Given the description of an element on the screen output the (x, y) to click on. 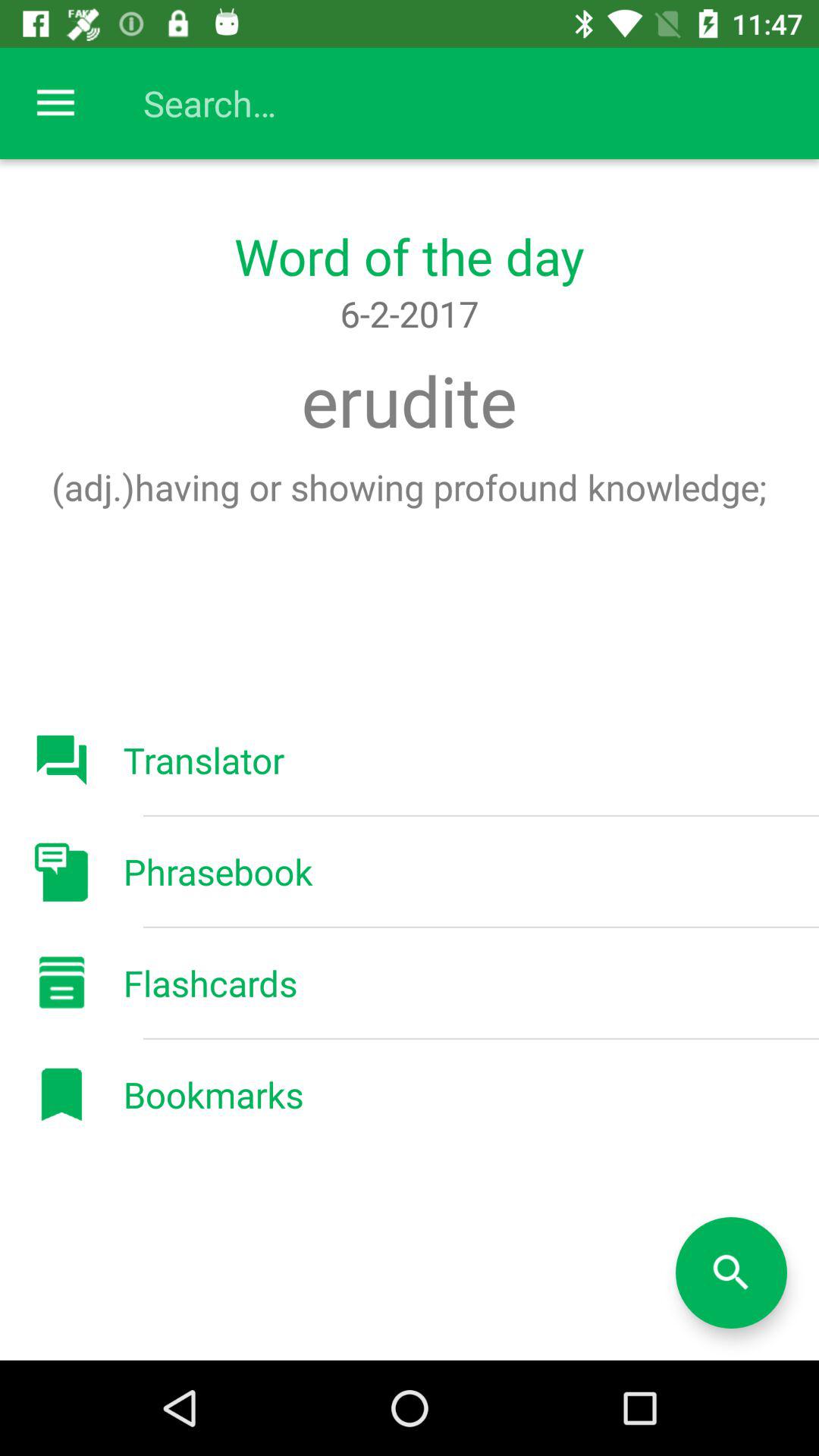
turn off flashcards item (210, 982)
